Given the description of an element on the screen output the (x, y) to click on. 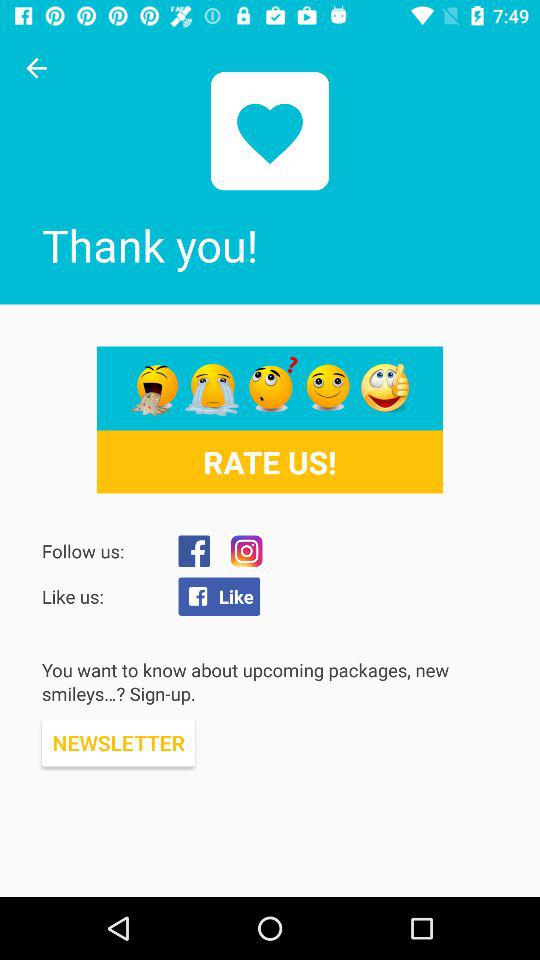
go back (36, 68)
